Given the description of an element on the screen output the (x, y) to click on. 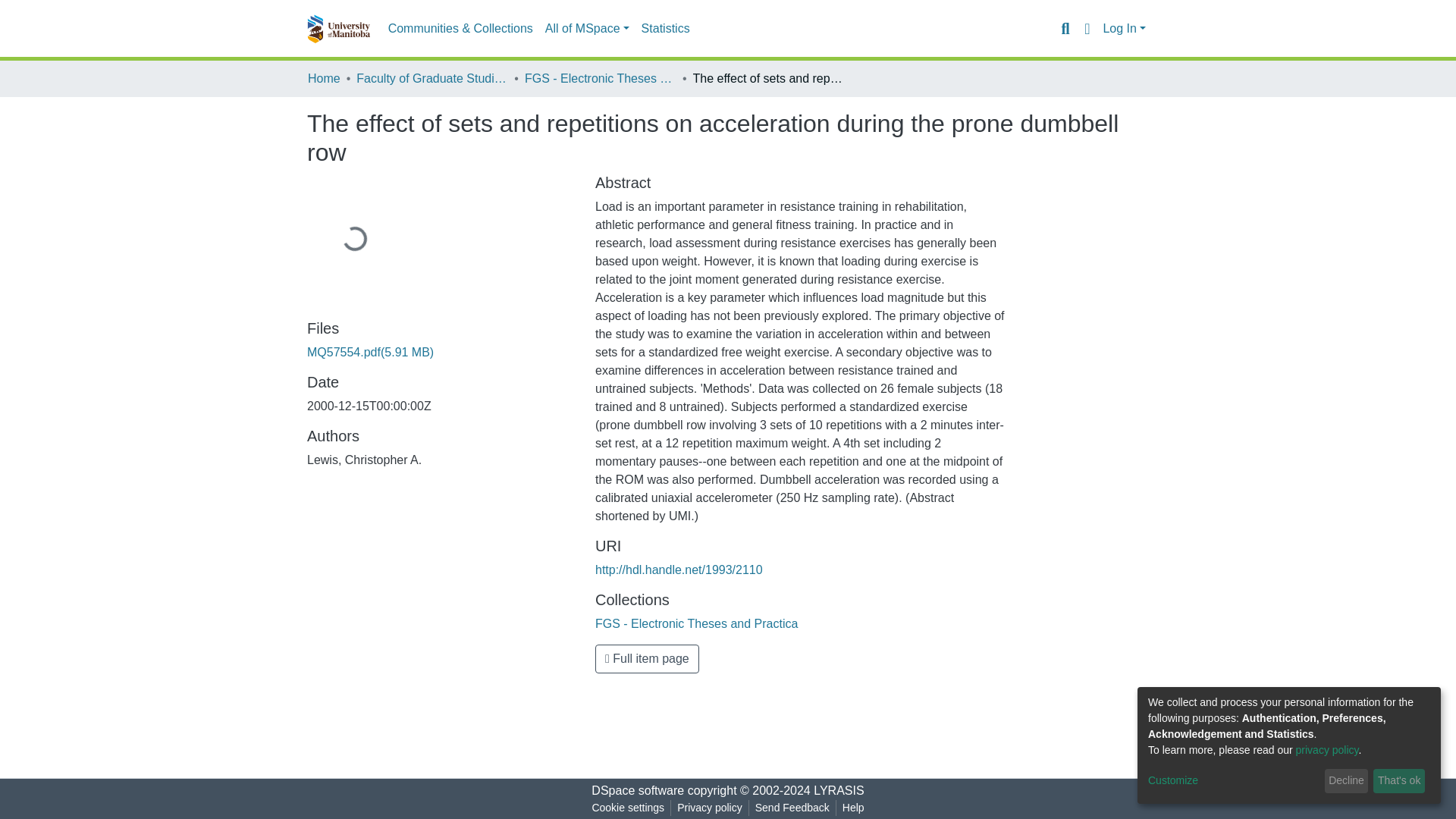
Home (323, 78)
privacy policy (1326, 749)
That's ok (1399, 781)
Statistics (664, 28)
DSpace software (637, 789)
FGS - Electronic Theses and Practica (696, 623)
Privacy policy (709, 807)
Language switch (1086, 28)
Full item page (646, 658)
LYRASIS (838, 789)
Help (852, 807)
Decline (1346, 781)
Cookie settings (627, 807)
All of MSpace (586, 28)
FGS - Electronic Theses and Practica (600, 78)
